Given the description of an element on the screen output the (x, y) to click on. 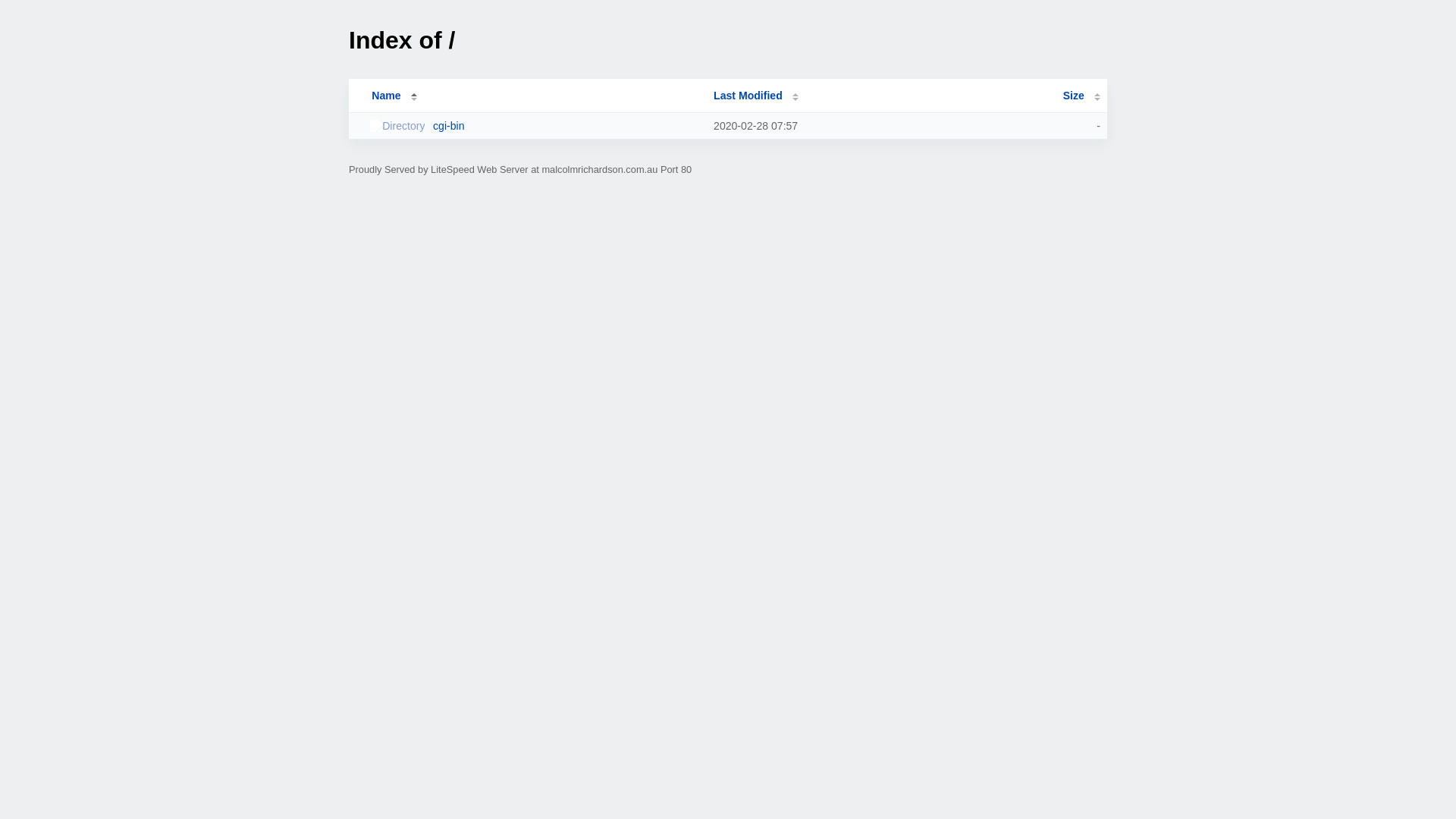
Name Element type: text (385, 95)
cgi-bin Element type: text (534, 125)
Last Modified Element type: text (755, 95)
Size Element type: text (1081, 95)
